Given the description of an element on the screen output the (x, y) to click on. 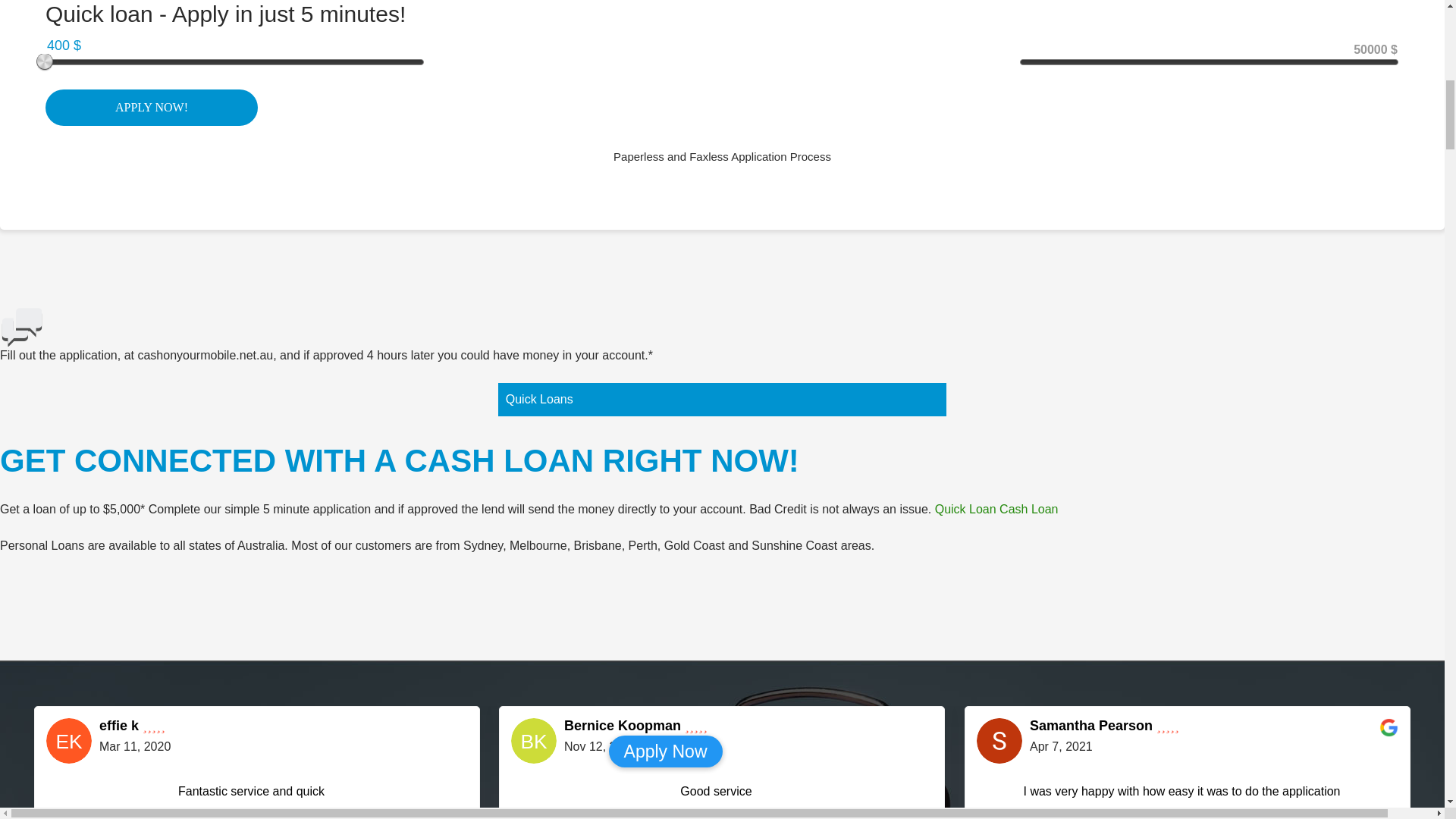
Quick Loan (964, 508)
Fantastic service and quick (275, 800)
Fantastic service and quick (256, 791)
I was very happy with how easy it was to do the application (1186, 791)
I was very happy with how easy it was to do the application (1186, 795)
Fantastic service and quick (256, 795)
Good service (741, 800)
Apply now! (151, 107)
Cash Loan (1028, 508)
Apply now! (151, 107)
Good service (722, 791)
I was very happy with how easy it was to do the application (1205, 800)
Good service (722, 795)
